Given the description of an element on the screen output the (x, y) to click on. 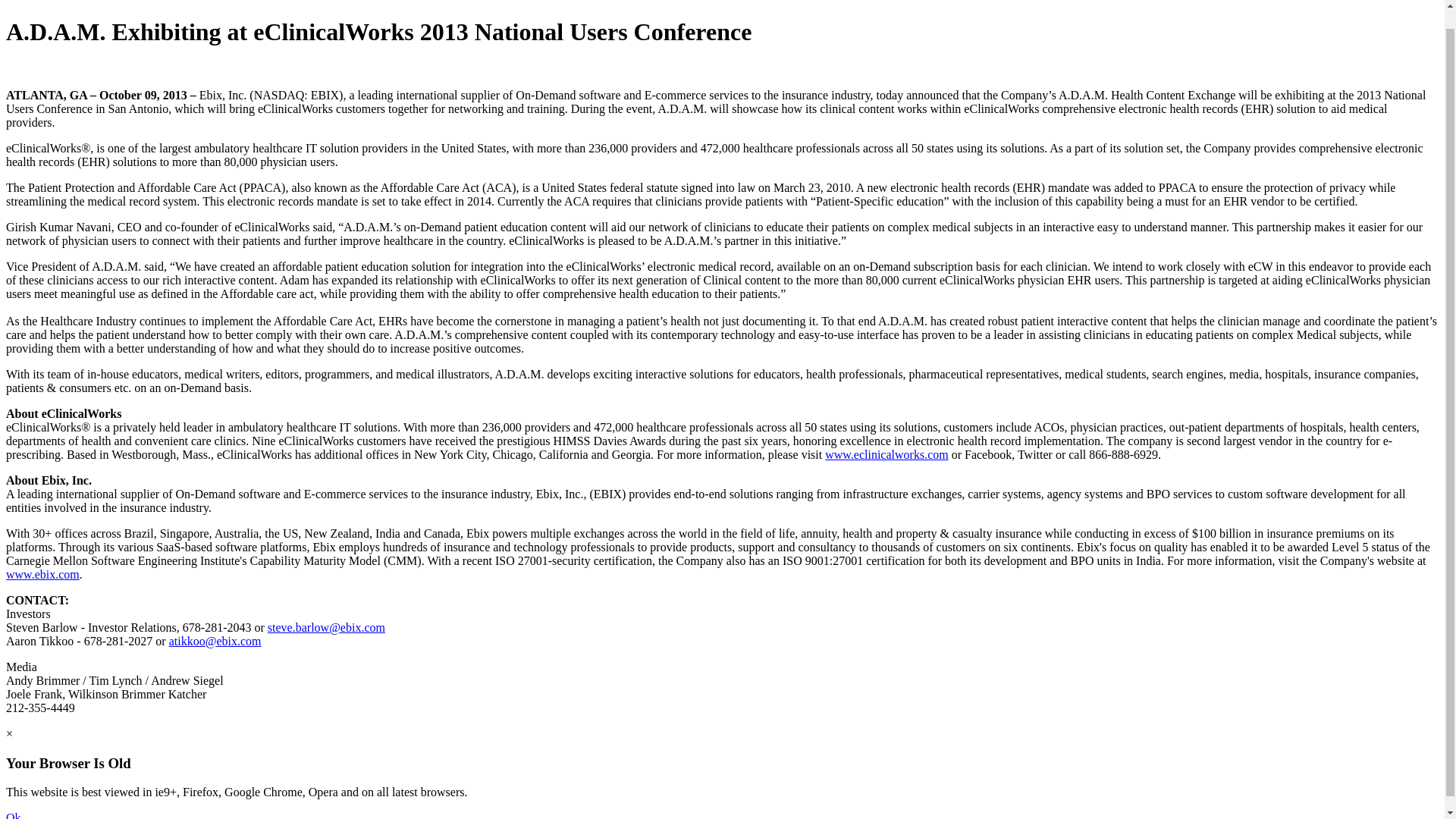
www.ebix.com (42, 574)
www.eclinicalworks.com (886, 454)
